Given the description of an element on the screen output the (x, y) to click on. 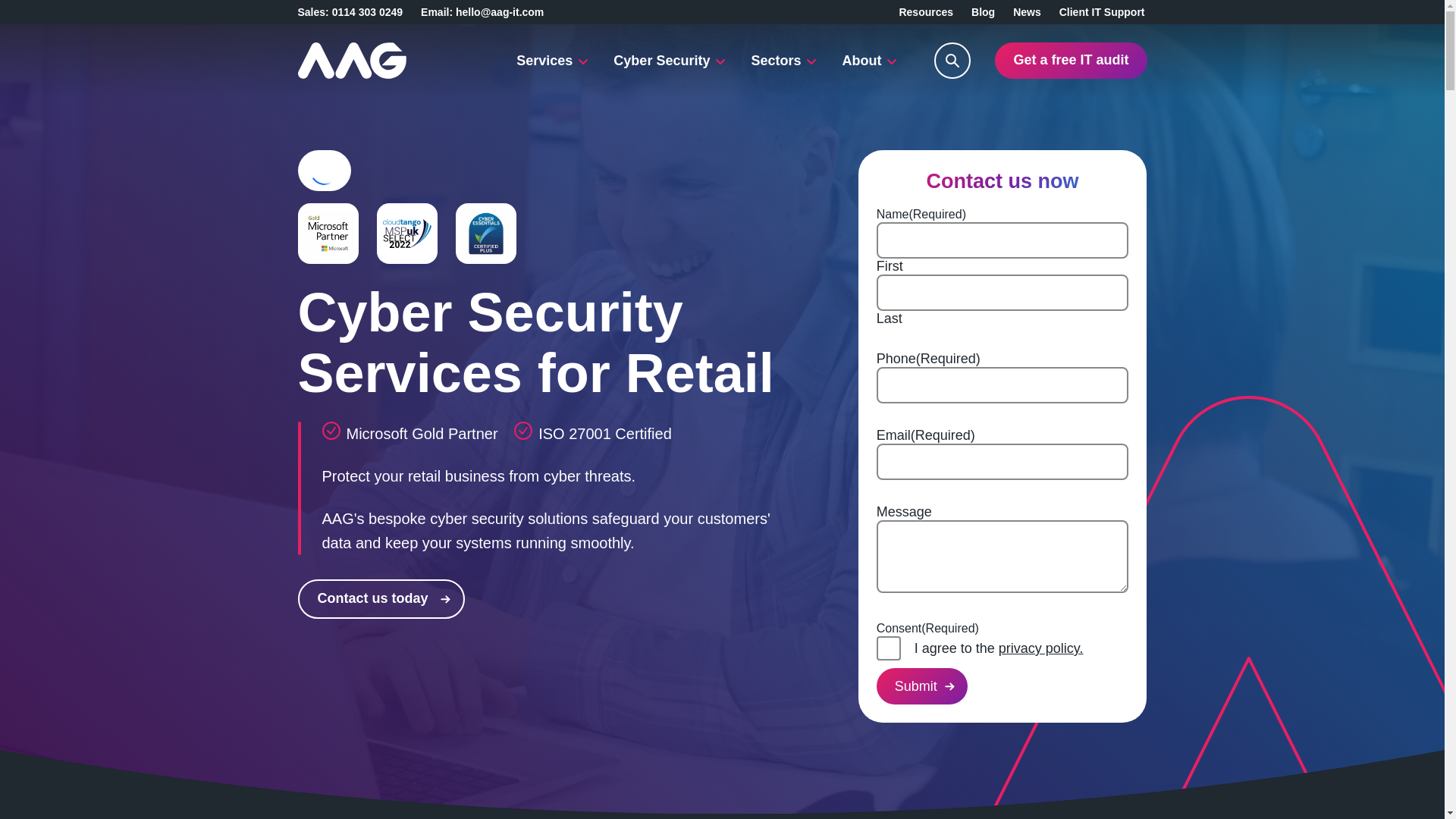
Client IT Support (1101, 11)
MSP-Select-UK-AAG (405, 233)
Submit (922, 686)
0114 303 0249 (367, 11)
Cyber Essentials Plus logo (485, 233)
Cyber Security (669, 60)
Resources (925, 11)
Services (552, 60)
Blog (982, 11)
About (869, 60)
Google Review Widget (322, 170)
Accreditations microsoft gold partner aag white (327, 233)
Sectors (783, 60)
News (1027, 11)
